Given the description of an element on the screen output the (x, y) to click on. 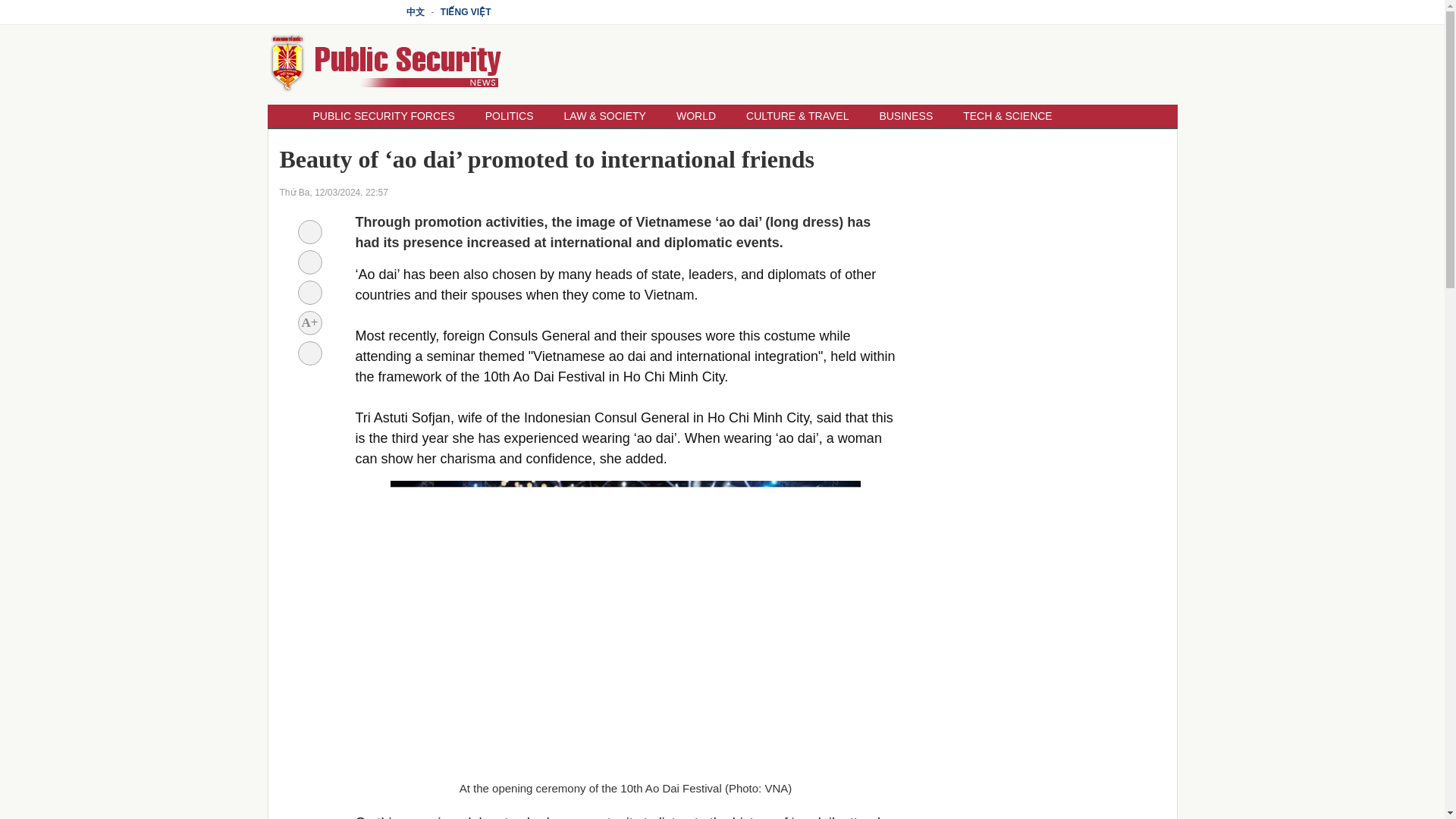
WORLD (695, 115)
POLITICS (509, 115)
BUSINESS (905, 115)
PUBLIC SECURITY FORCES (382, 115)
